Given the description of an element on the screen output the (x, y) to click on. 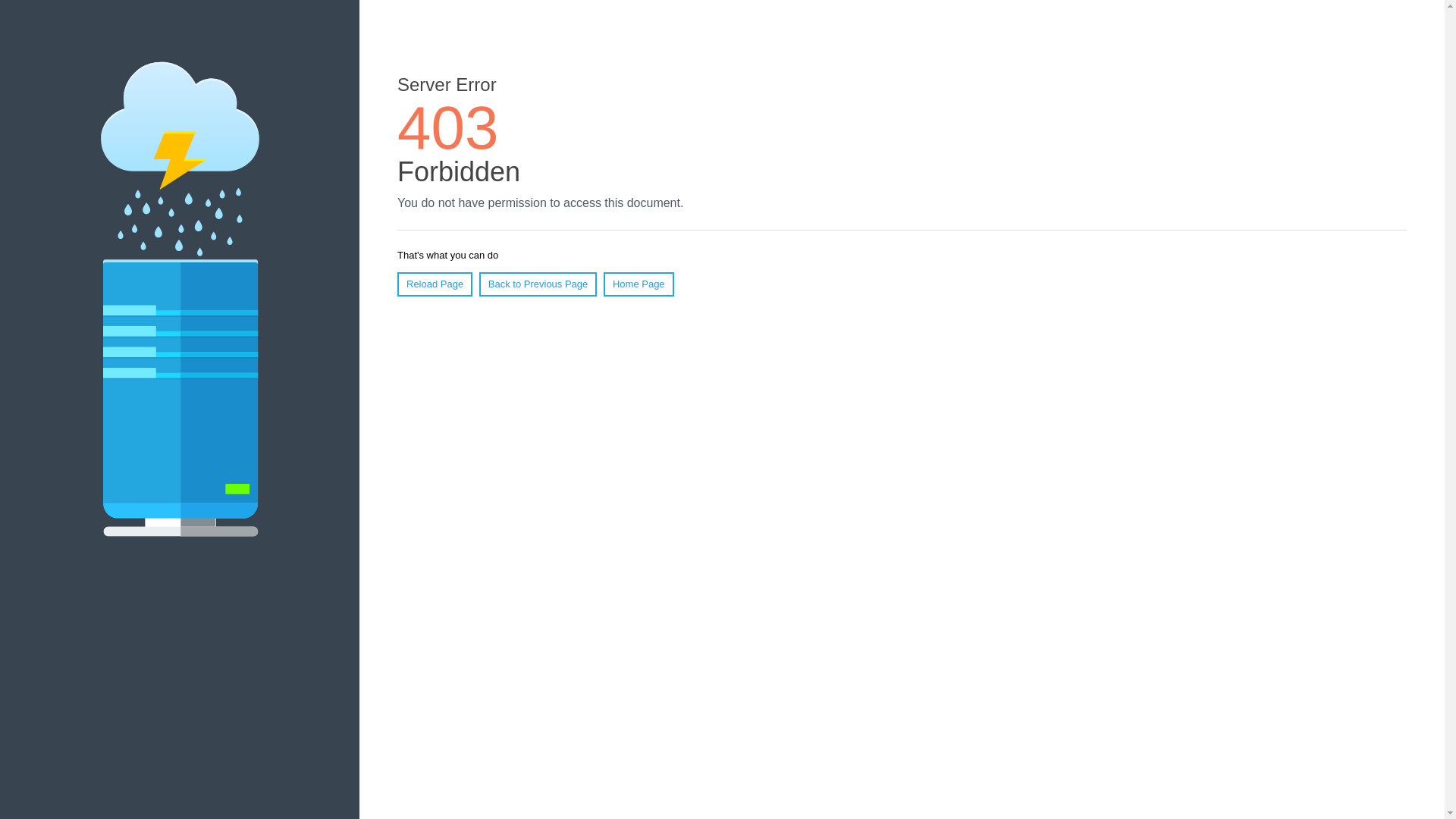
Back to Previous Page (537, 283)
Home Page (639, 283)
Reload Page (434, 283)
